Given the description of an element on the screen output the (x, y) to click on. 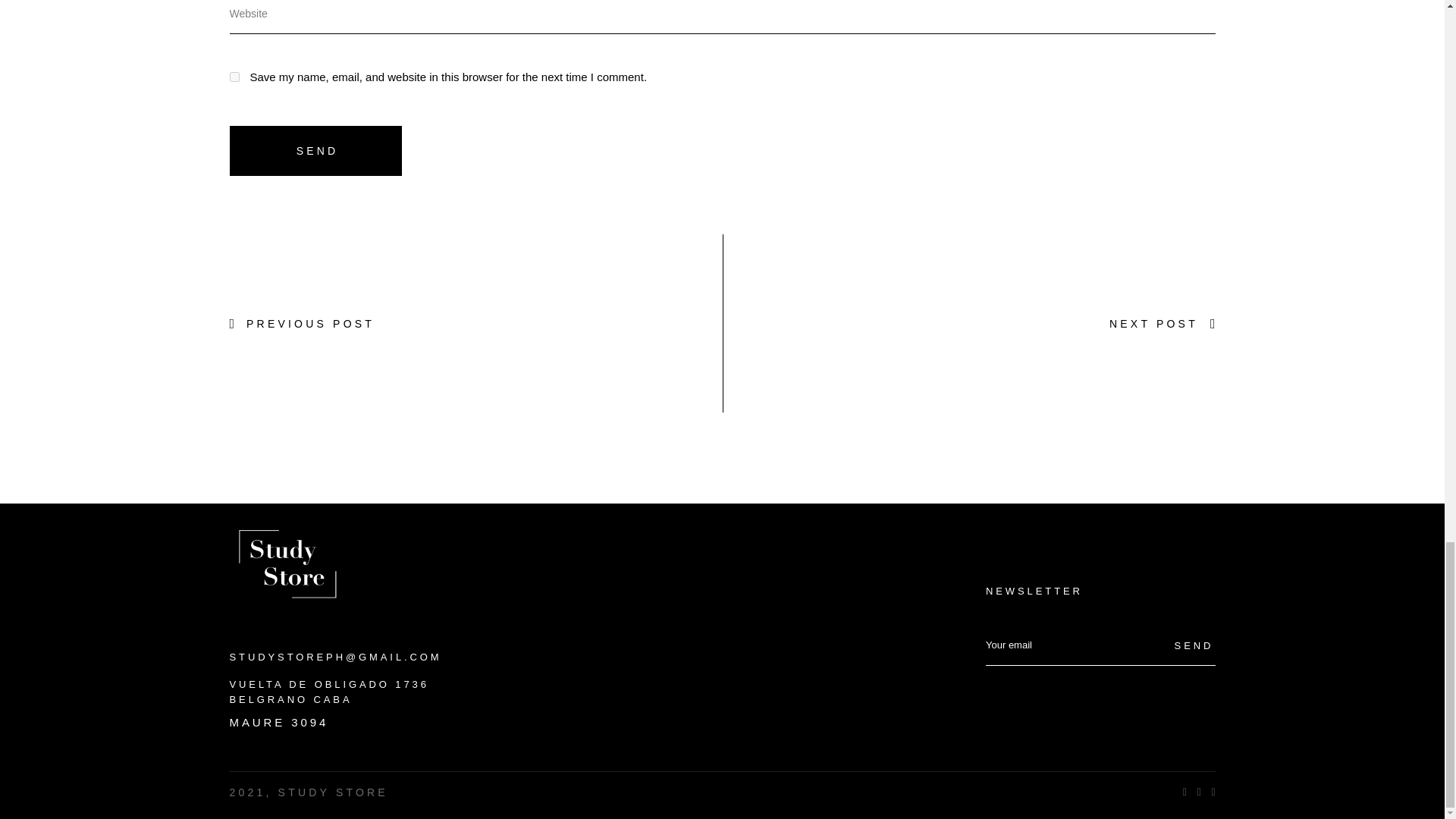
yes (233, 76)
Study Store (285, 560)
PREVIOUS POST (301, 323)
SEND (314, 151)
